Given the description of an element on the screen output the (x, y) to click on. 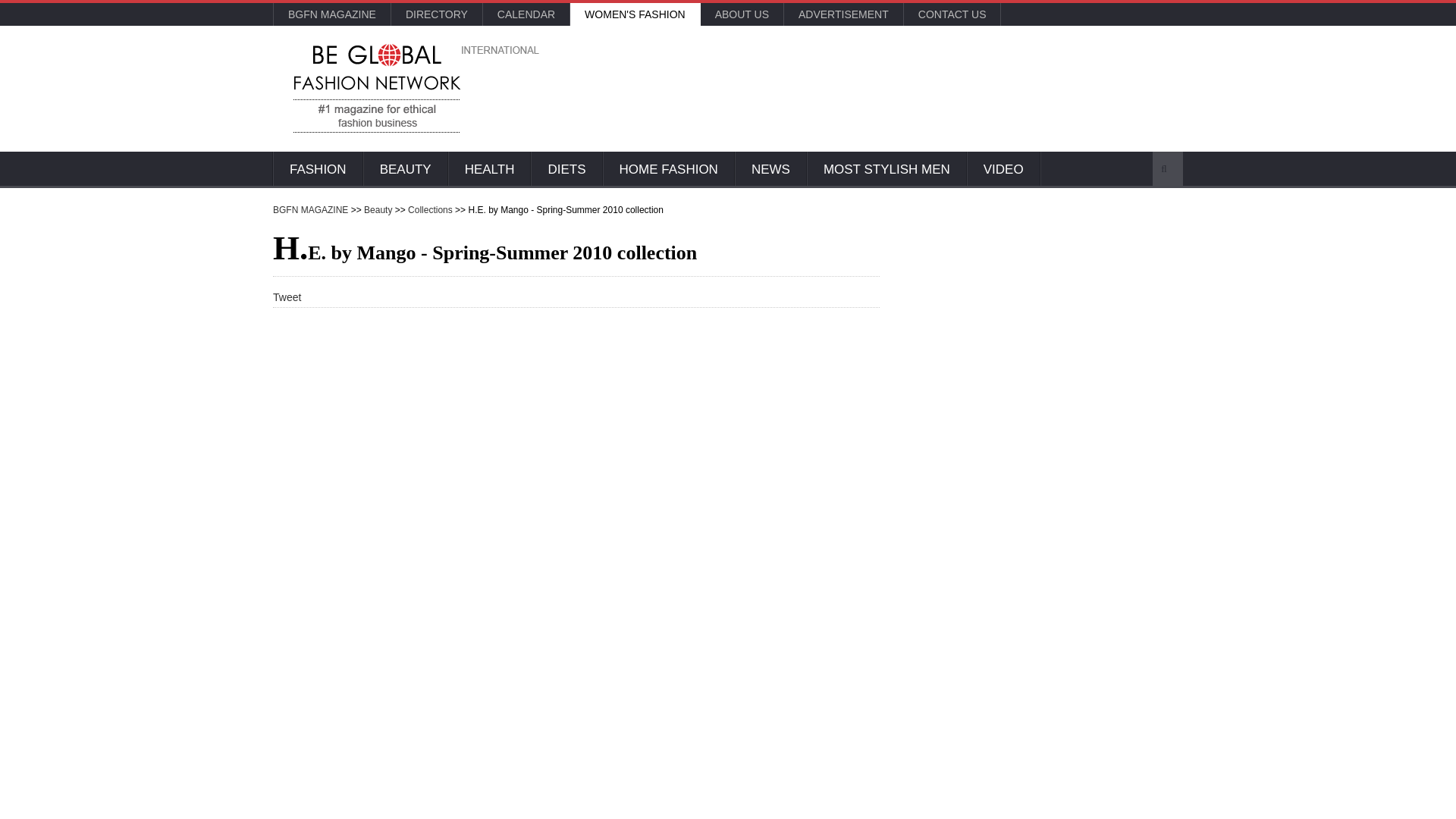
FASHION (317, 169)
WOMEN'S FASHION (635, 14)
CALENDAR (526, 14)
DIETS (566, 169)
DIRECTORY (436, 14)
ABOUT US (741, 14)
ADVERTISEMENT (843, 14)
HEALTH (489, 169)
CONTACT US (952, 14)
BGFN MAGAZINE (331, 14)
